Given the description of an element on the screen output the (x, y) to click on. 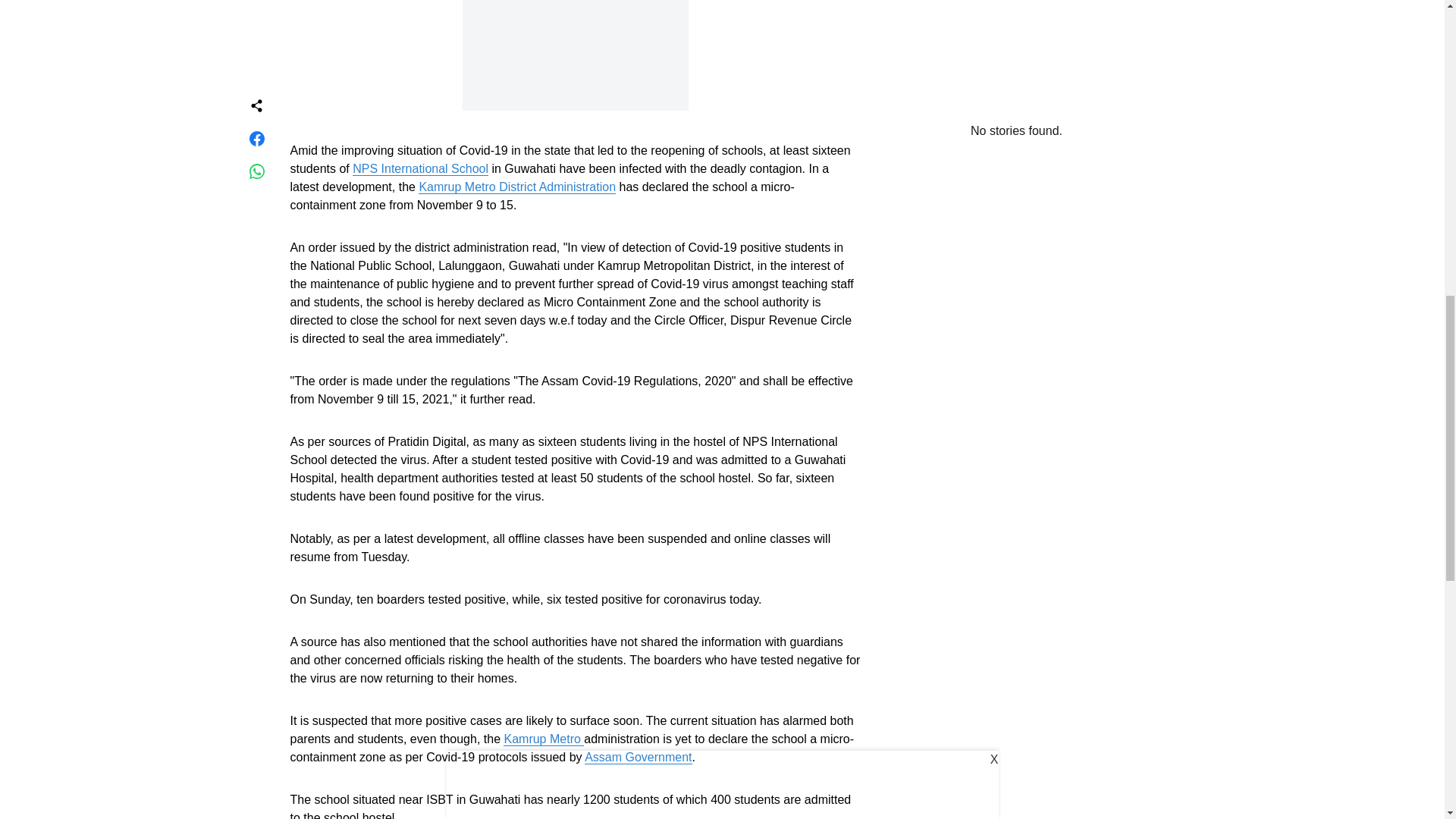
NPS International School (419, 169)
Assam Government (638, 757)
Kamrup Metro  (543, 739)
Kamrup Metro District Administration (517, 187)
